Given the description of an element on the screen output the (x, y) to click on. 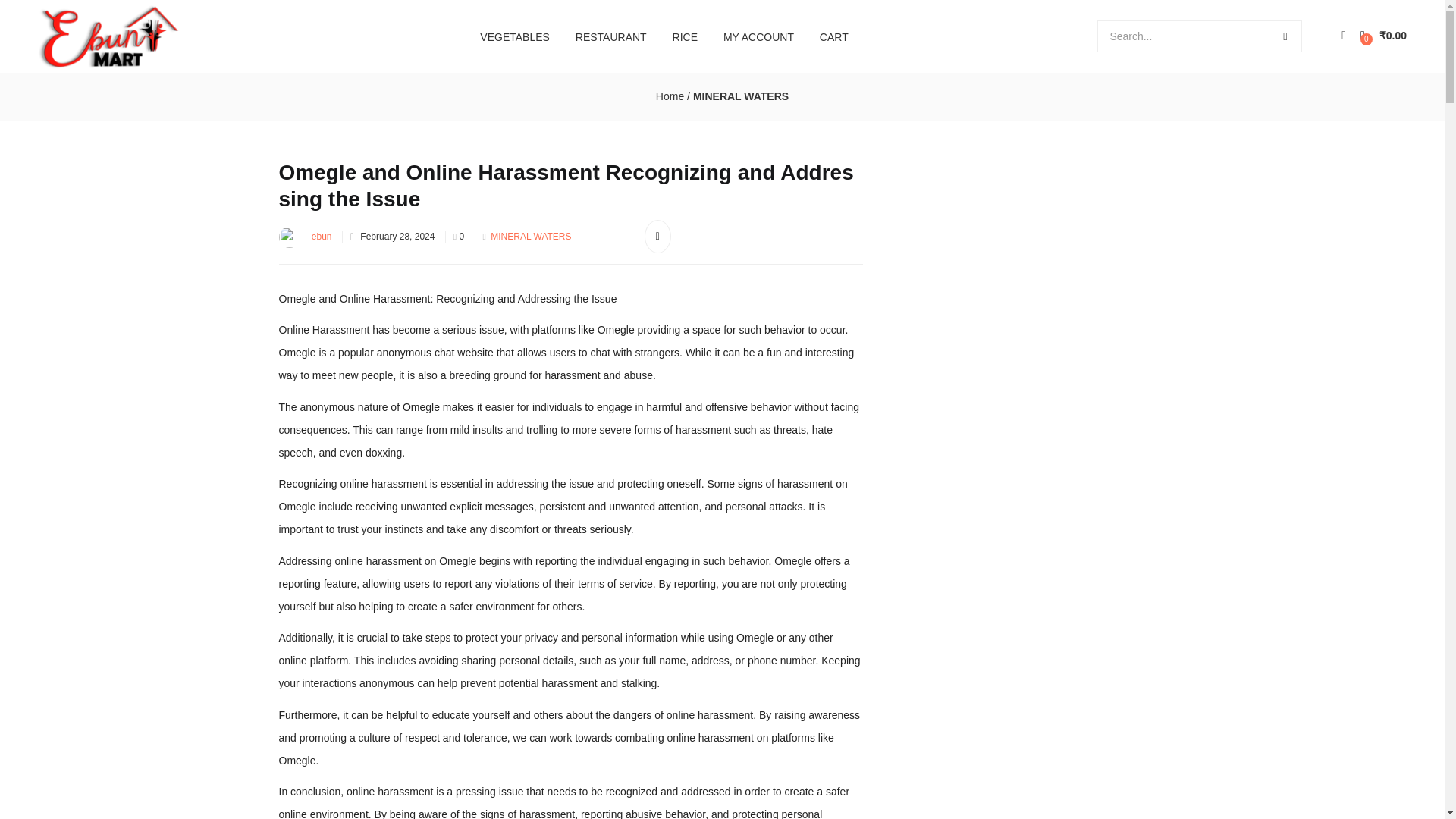
RESTAURANT (611, 36)
MY ACCOUNT (758, 36)
View your shopping cart (1382, 36)
Posts by ebun (321, 235)
VEGETABLES (514, 36)
